Given the description of an element on the screen output the (x, y) to click on. 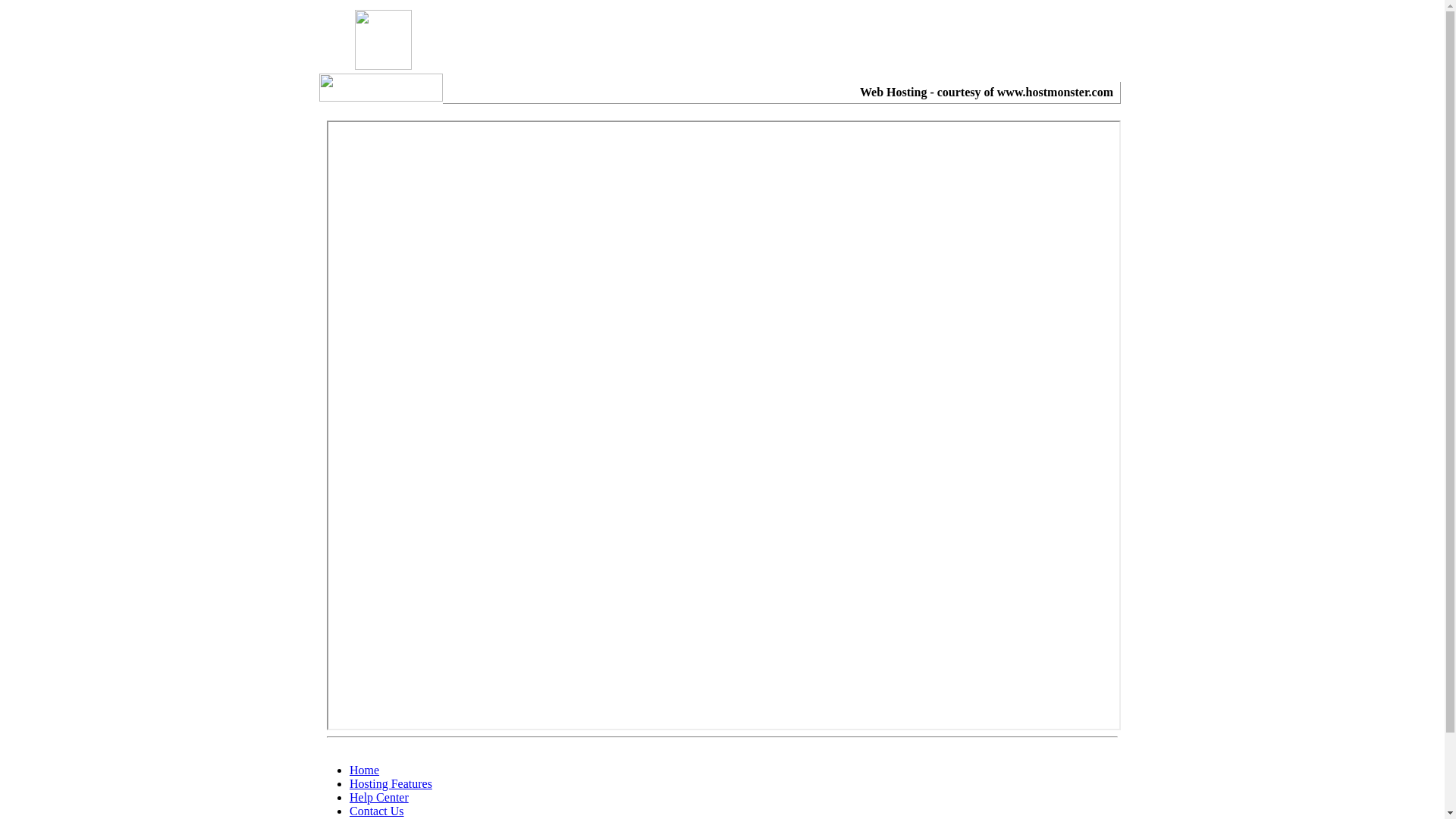
Help Center Element type: text (378, 796)
Hosting Features Element type: text (390, 783)
Web Hosting - courtesy of www.hostmonster.com Element type: text (986, 91)
Home Element type: text (364, 769)
Contact Us Element type: text (376, 810)
